Given the description of an element on the screen output the (x, y) to click on. 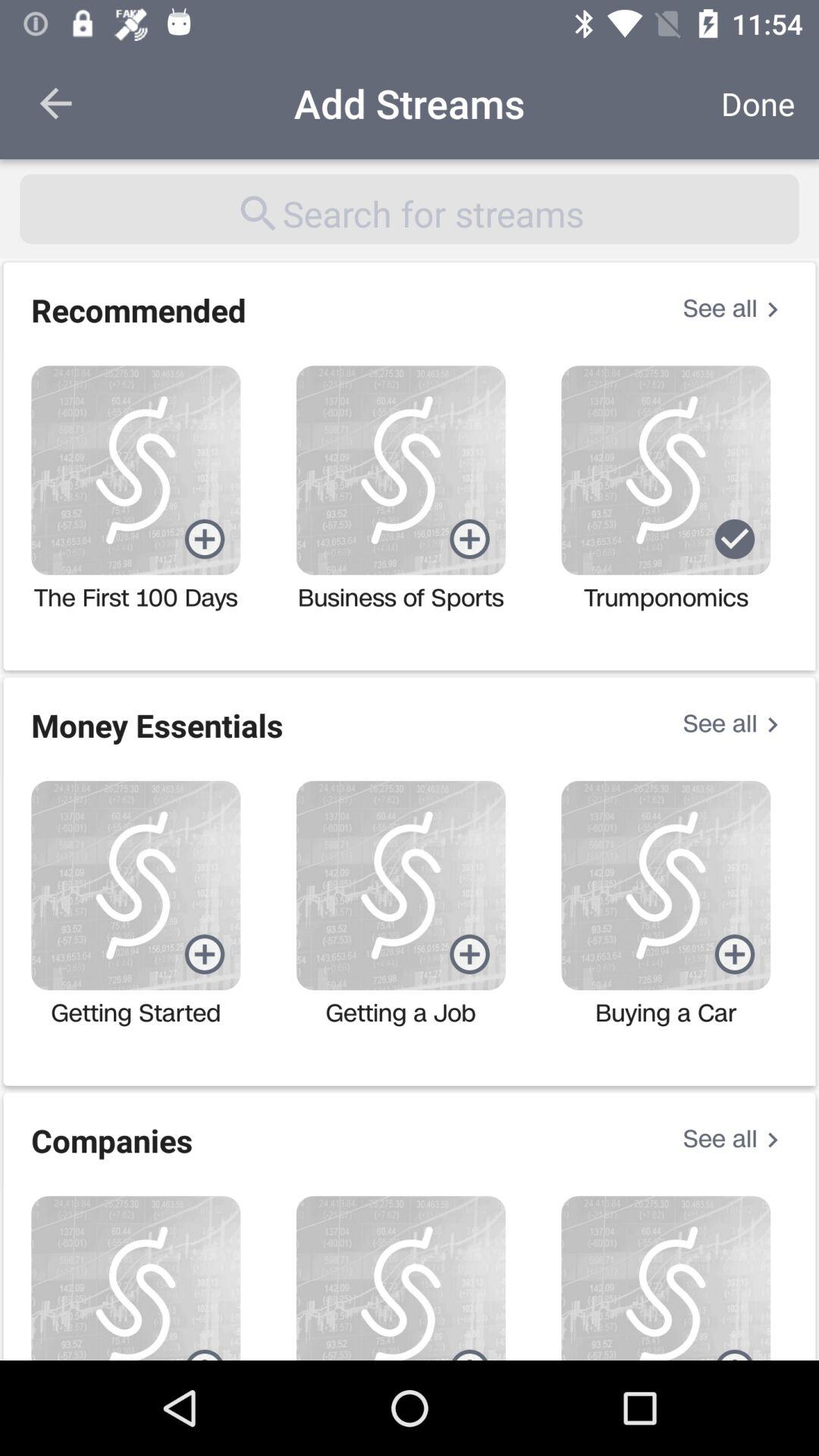
turn on the item below add streams (409, 208)
